Given the description of an element on the screen output the (x, y) to click on. 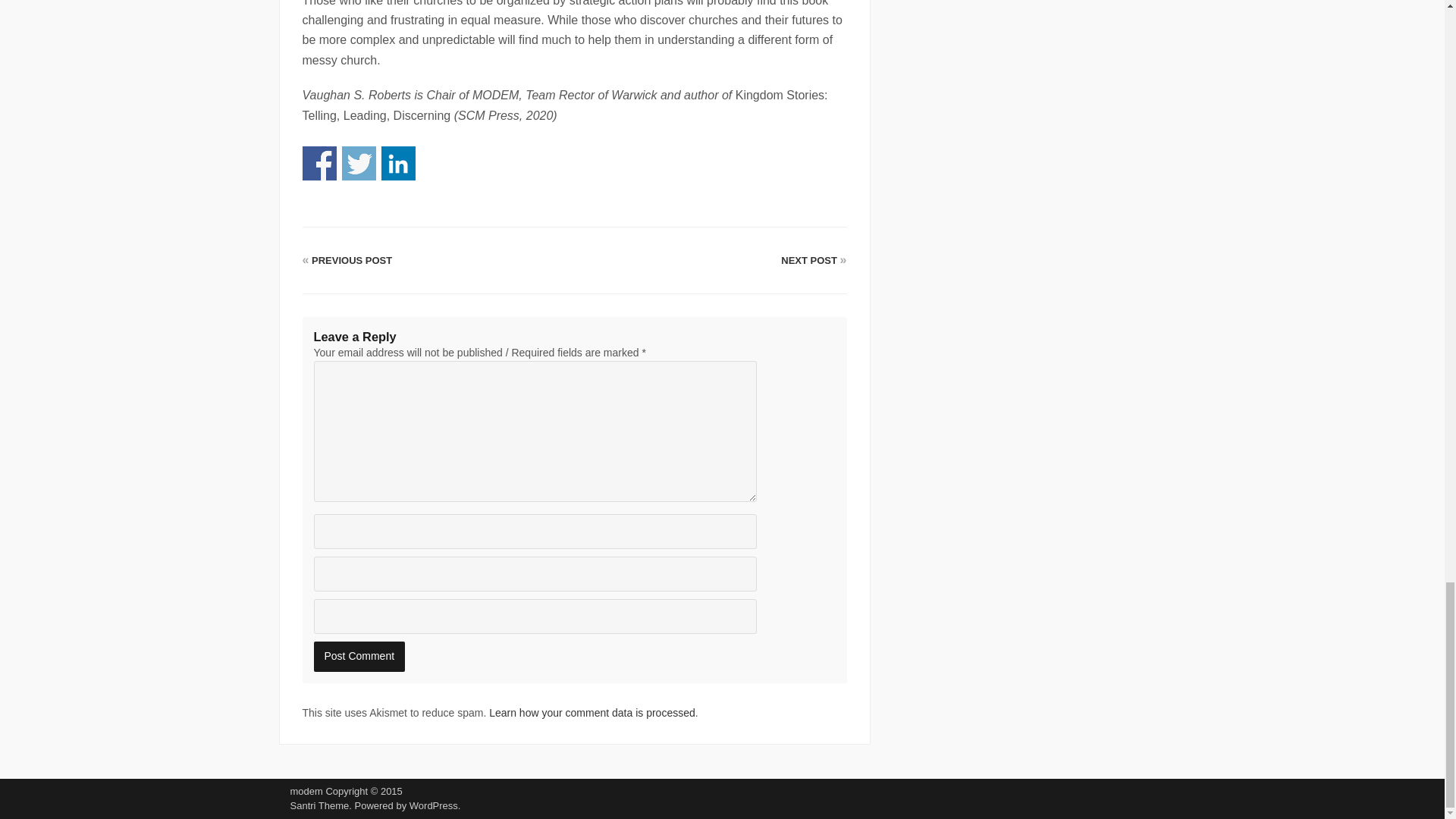
Learn how your comment data is processed (592, 712)
Post Comment (360, 656)
Post Comment (360, 656)
